Given the description of an element on the screen output the (x, y) to click on. 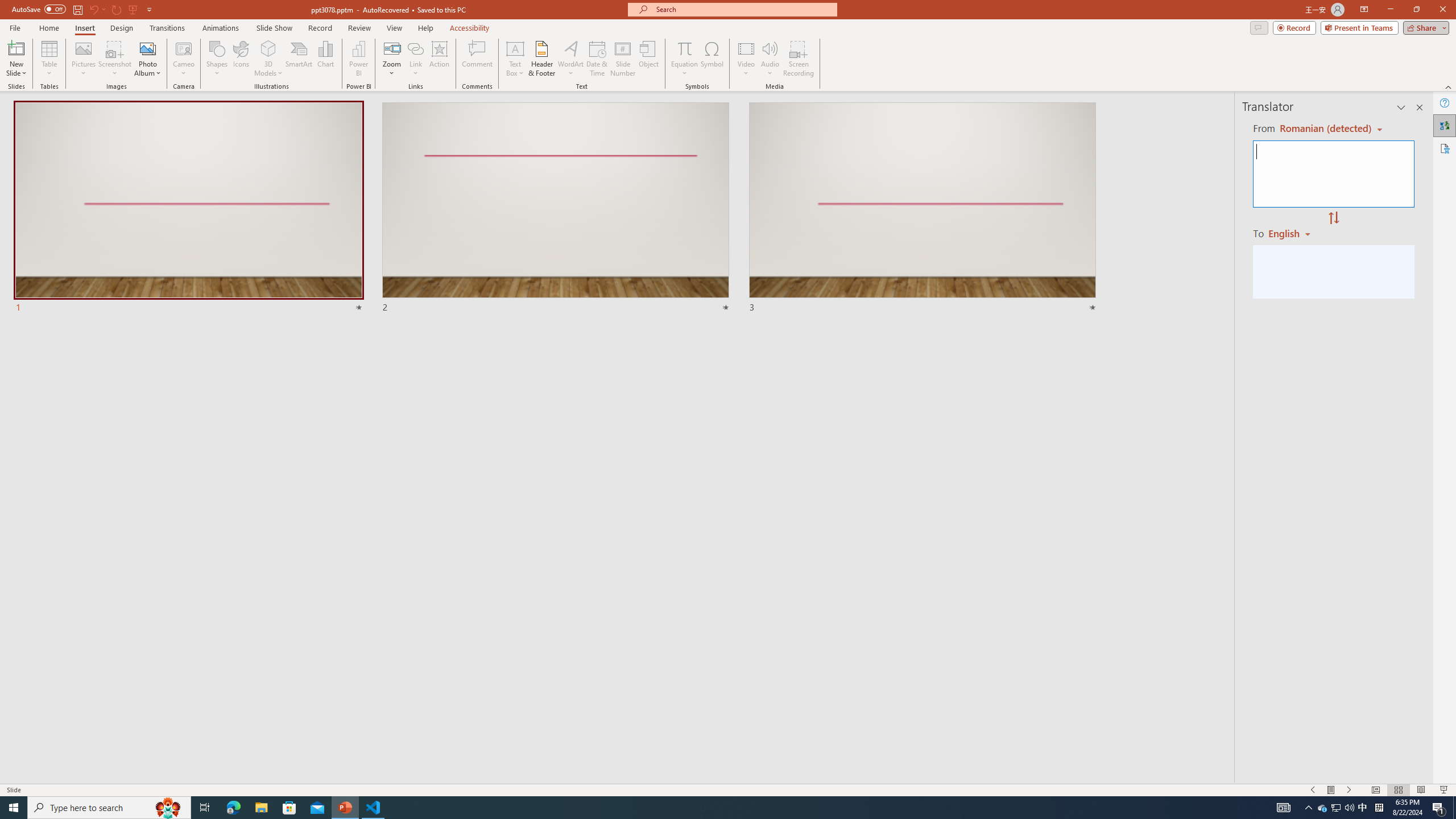
Date & Time... (596, 58)
Link (415, 58)
Equation (683, 48)
Video (745, 58)
Chart... (325, 58)
Swap "from" and "to" languages. (1333, 218)
